Given the description of an element on the screen output the (x, y) to click on. 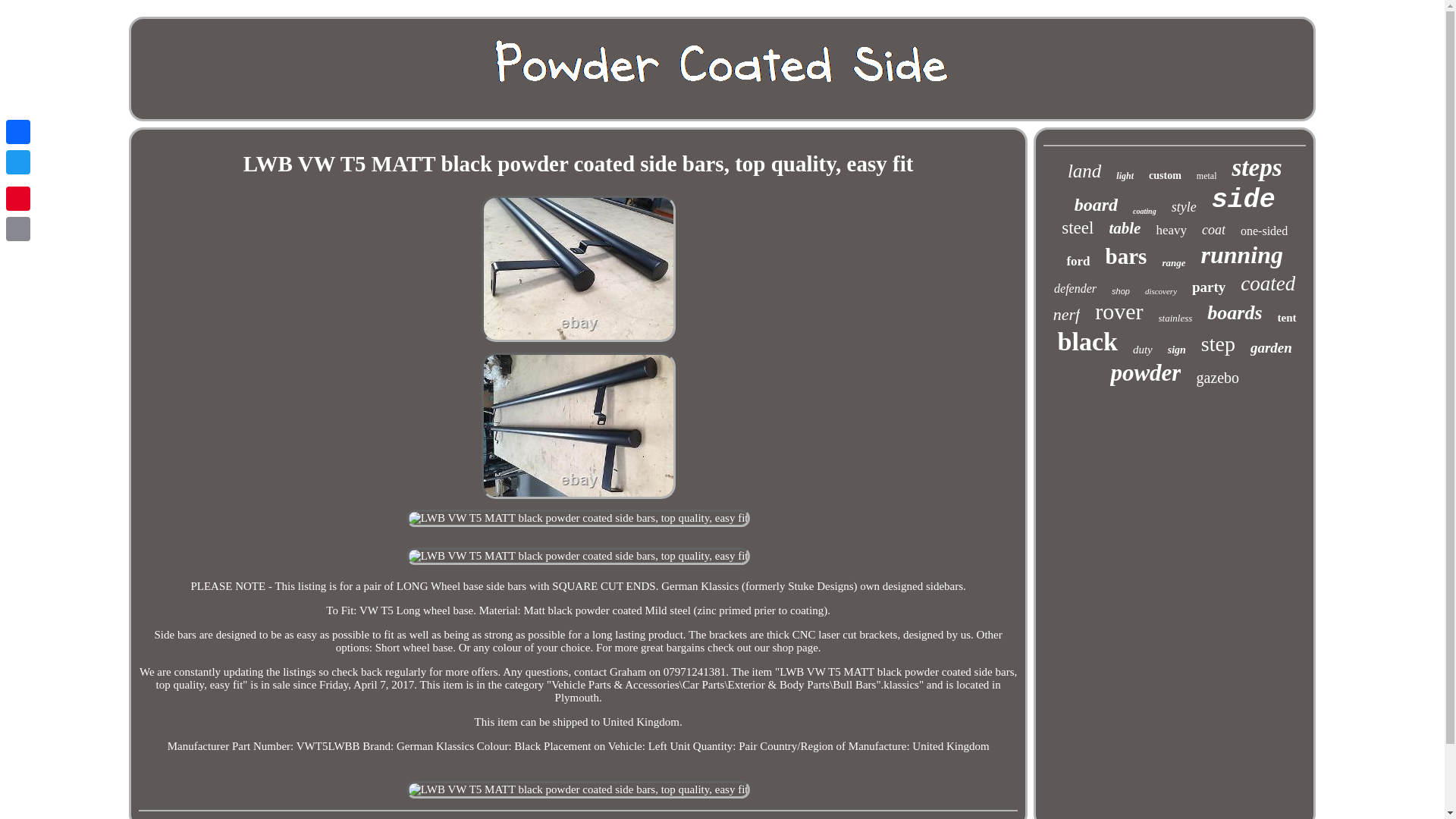
rover (1118, 311)
coating (1144, 211)
style (1184, 207)
steps (1256, 167)
Email (17, 228)
Pinterest (17, 198)
metal (1206, 175)
land (1083, 170)
discovery (1160, 290)
tent (1287, 318)
stainless (1175, 318)
defender (1075, 288)
table (1124, 228)
board (1096, 204)
